Given the description of an element on the screen output the (x, y) to click on. 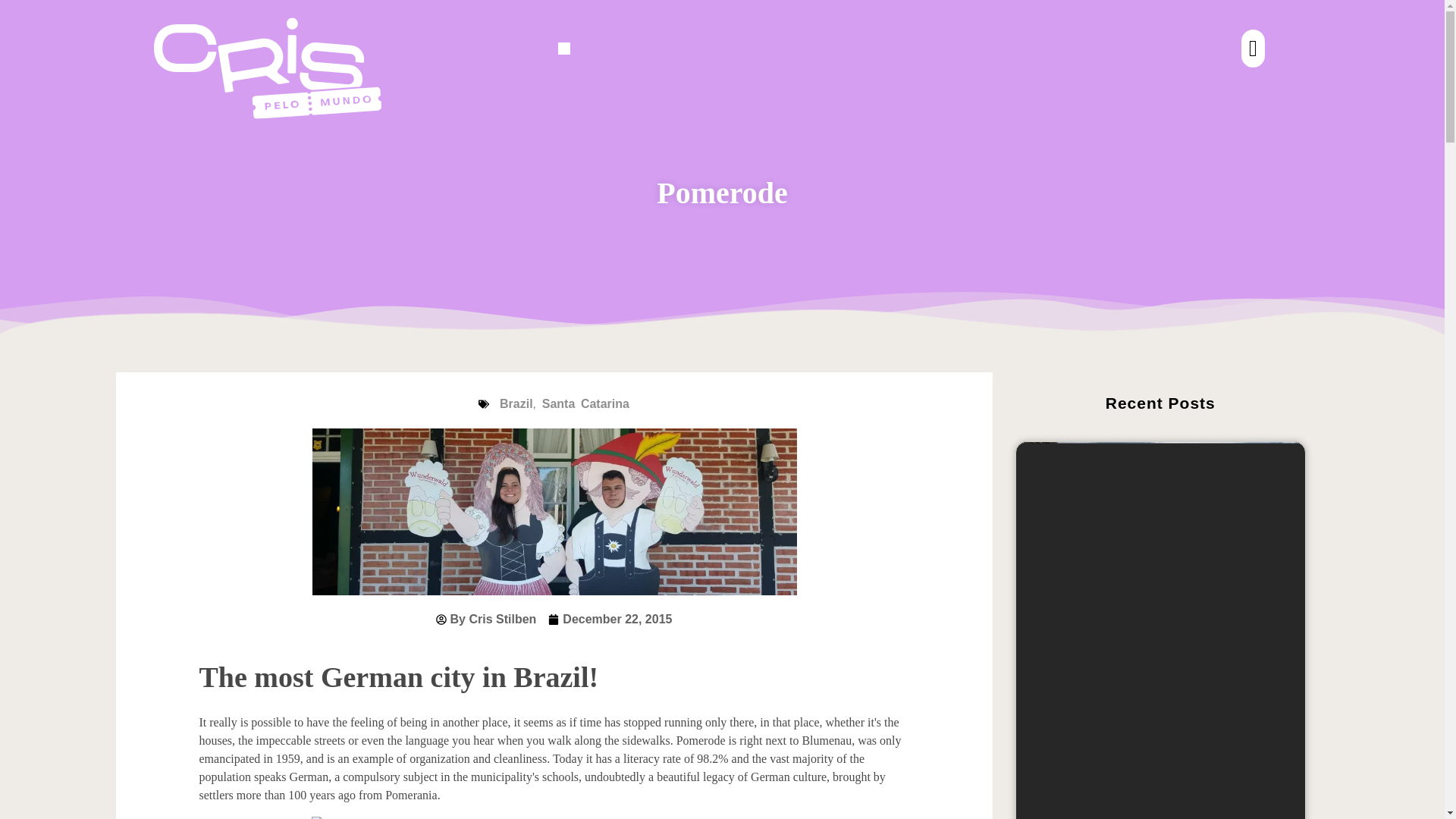
Santa Catarina (584, 403)
December 22, 2015 (609, 619)
By Cris Stilben (486, 619)
Brazil (515, 403)
